Given the description of an element on the screen output the (x, y) to click on. 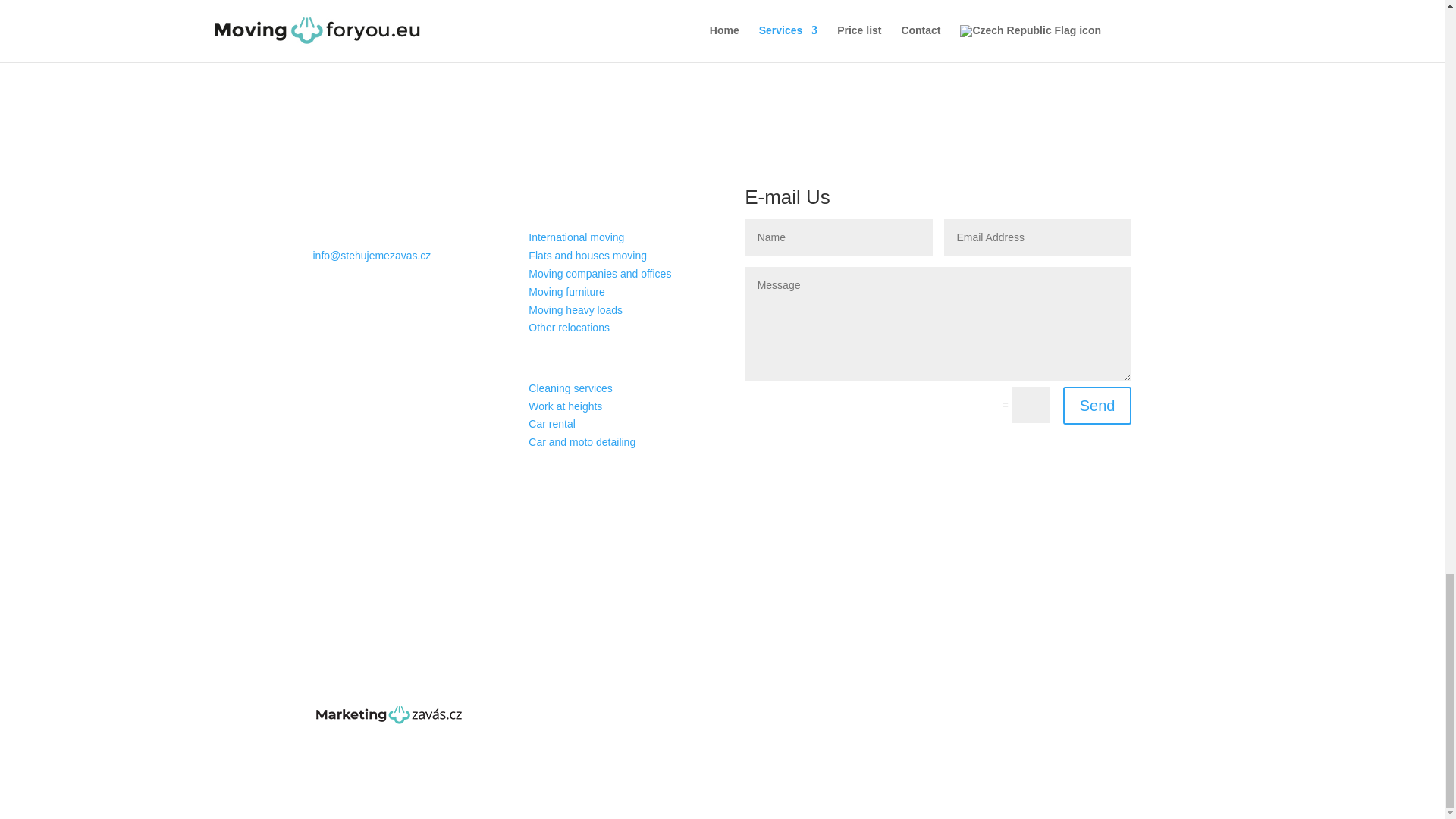
Moving heavy loads (575, 309)
Moving furniture (566, 291)
Postupujte podle Facebook (506, 508)
Flats and houses moving (587, 255)
Cleaning services (570, 387)
International moving (576, 236)
Car and moto detailing (581, 441)
Send (1097, 405)
Car rental (551, 423)
Moving companies and offices (599, 273)
